Given the description of an element on the screen output the (x, y) to click on. 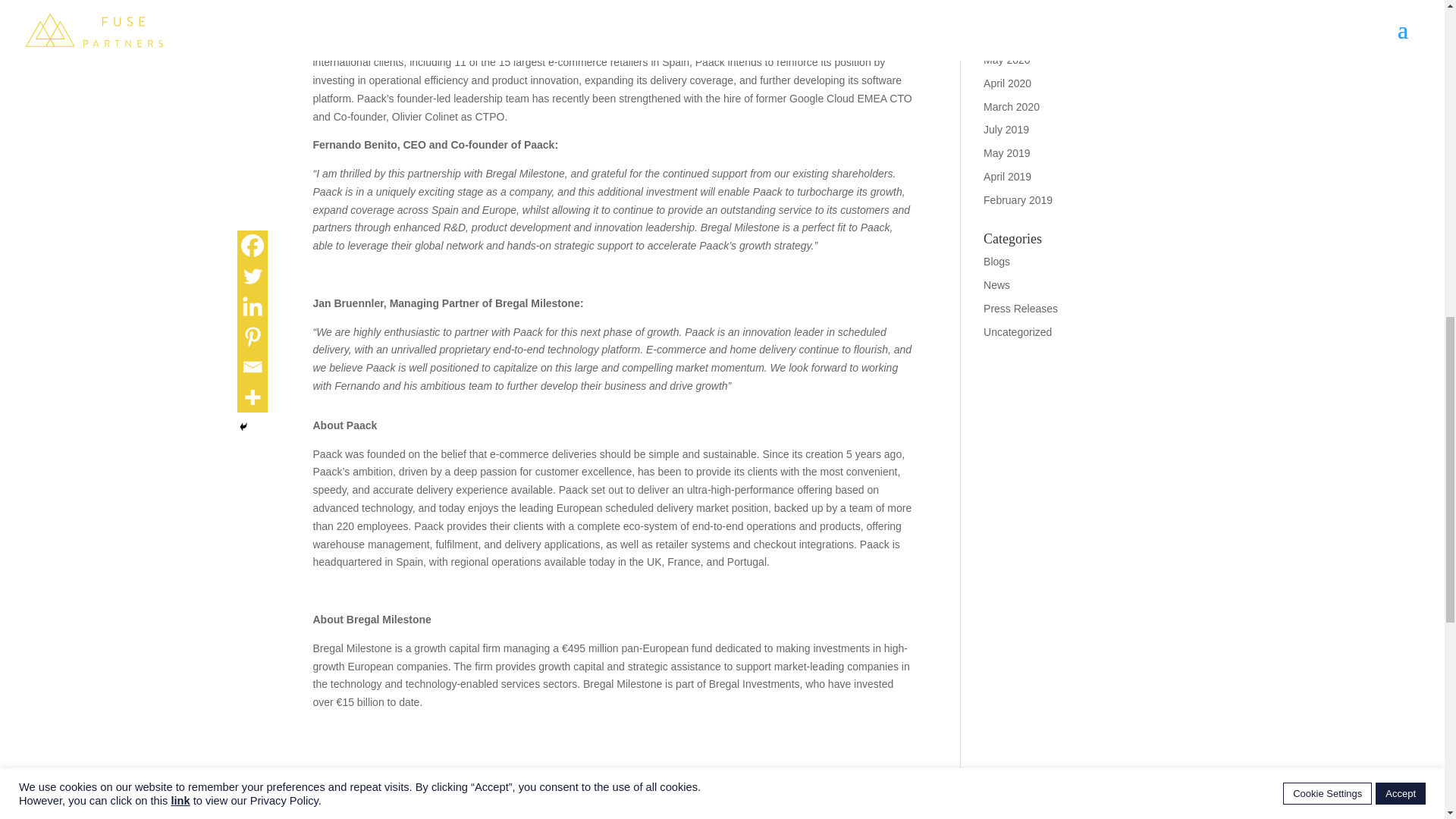
May 2020 (1006, 60)
Facebook (327, 807)
Linkedin (385, 807)
Twitter (357, 807)
More (445, 807)
June 2020 (1008, 36)
July 2020 (1006, 12)
April 2020 (1007, 82)
Pinterest (416, 807)
